Given the description of an element on the screen output the (x, y) to click on. 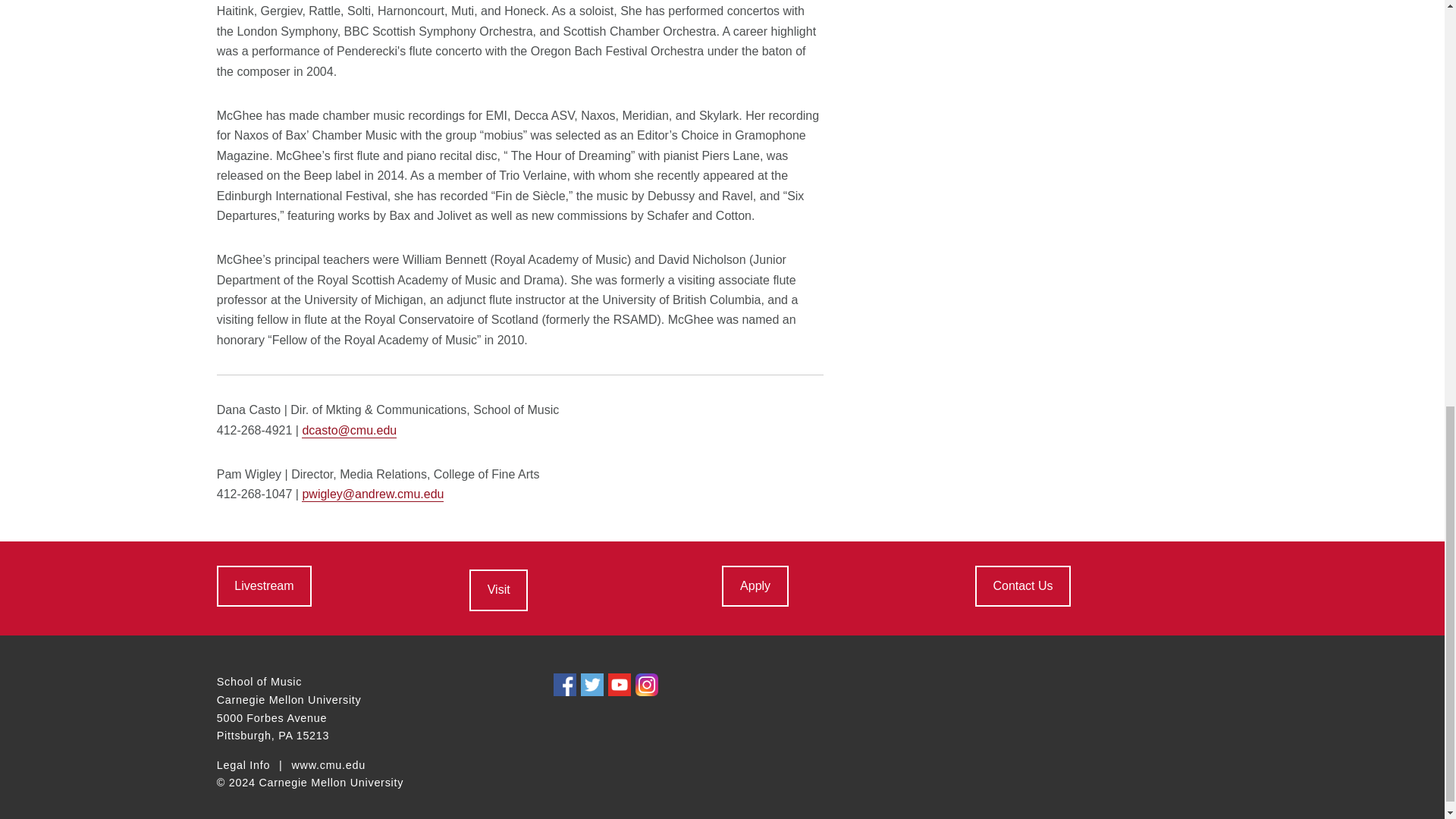
CMU YouTube Channel (619, 684)
Livestream (263, 585)
Apply button (754, 585)
CMU on Facebook (564, 684)
Visit (497, 589)
Legal Info (242, 766)
CMU on Instagram (646, 684)
CMU Music Youtube (263, 585)
Apply (754, 585)
CMU on Twitter (592, 684)
